Given the description of an element on the screen output the (x, y) to click on. 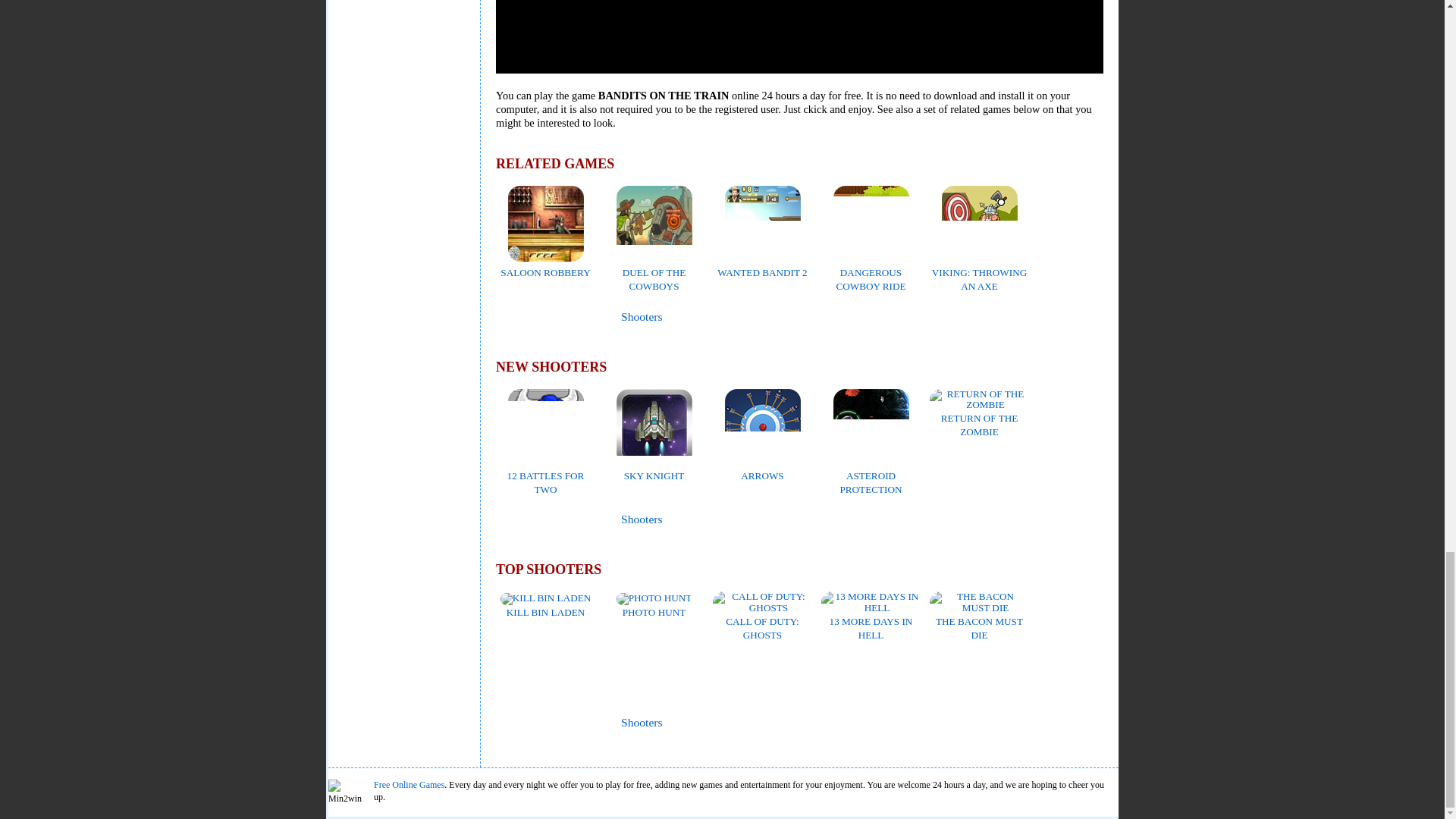
ASTEROID PROTECTION (870, 475)
12 BATTLES FOR TWO (545, 475)
VIKING: THROWING AN AXE (978, 272)
ASTEROID PROTECTION (870, 475)
All new games (539, 519)
KILL BIN LADEN (545, 605)
All games (536, 316)
THE BACON MUST DIE (979, 620)
TOP games (538, 722)
CALL OF DUTY: GHOSTS (762, 620)
